Given the description of an element on the screen output the (x, y) to click on. 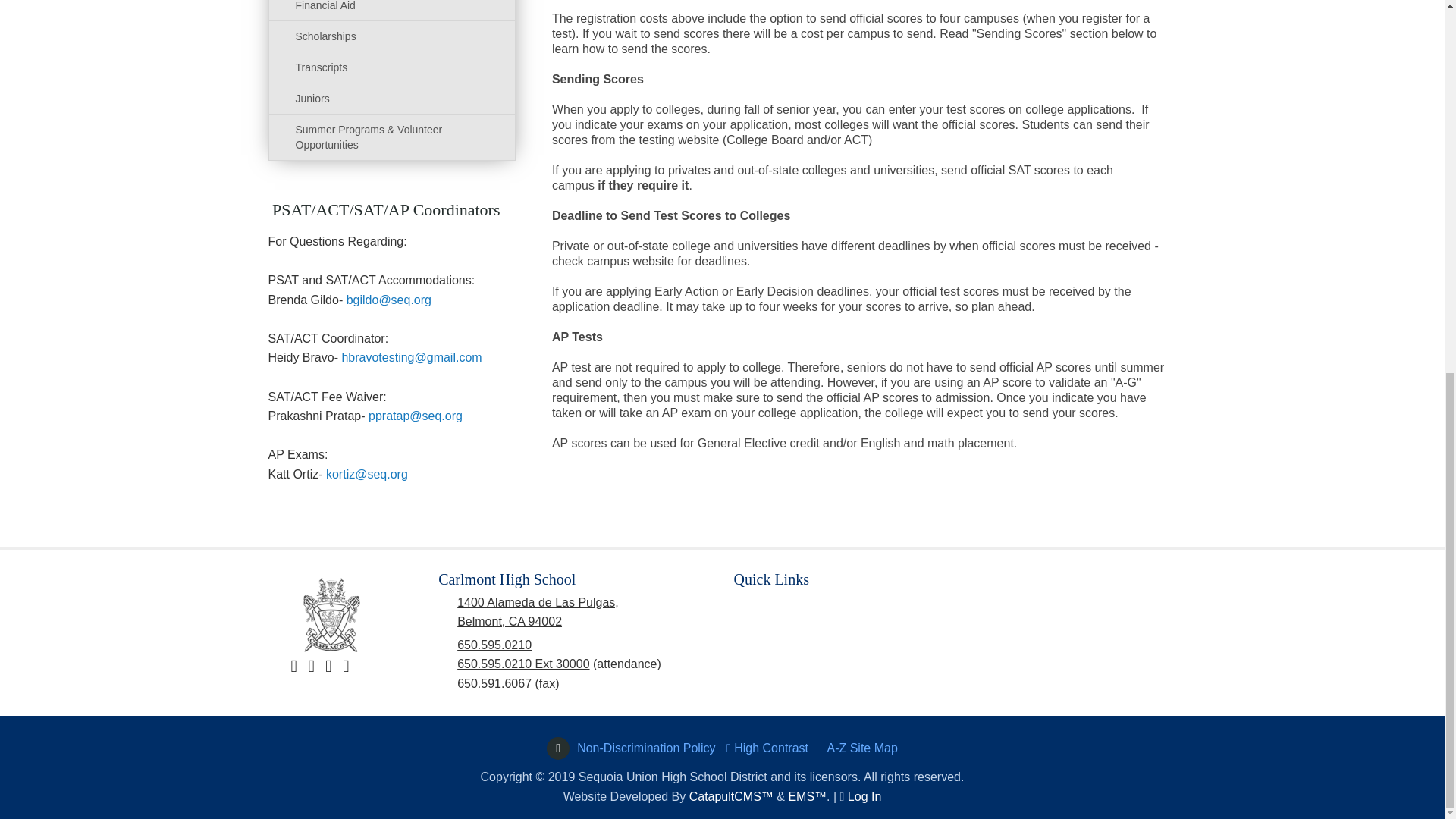
Catapult CMS - Easy to Use Website Content Management System (730, 796)
Login to Catapult CMS (863, 796)
